Given the description of an element on the screen output the (x, y) to click on. 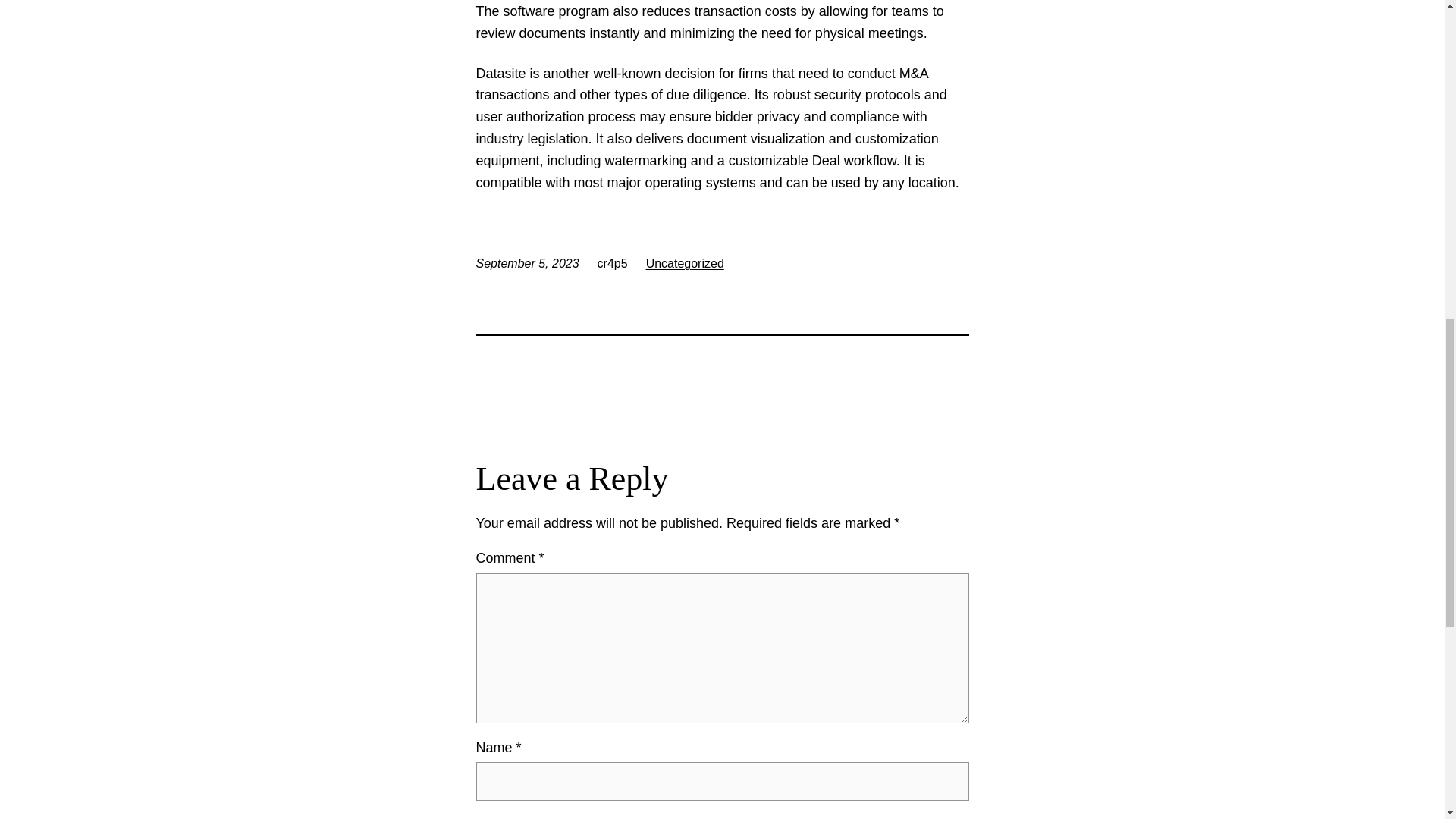
Uncategorized (684, 263)
